Given the description of an element on the screen output the (x, y) to click on. 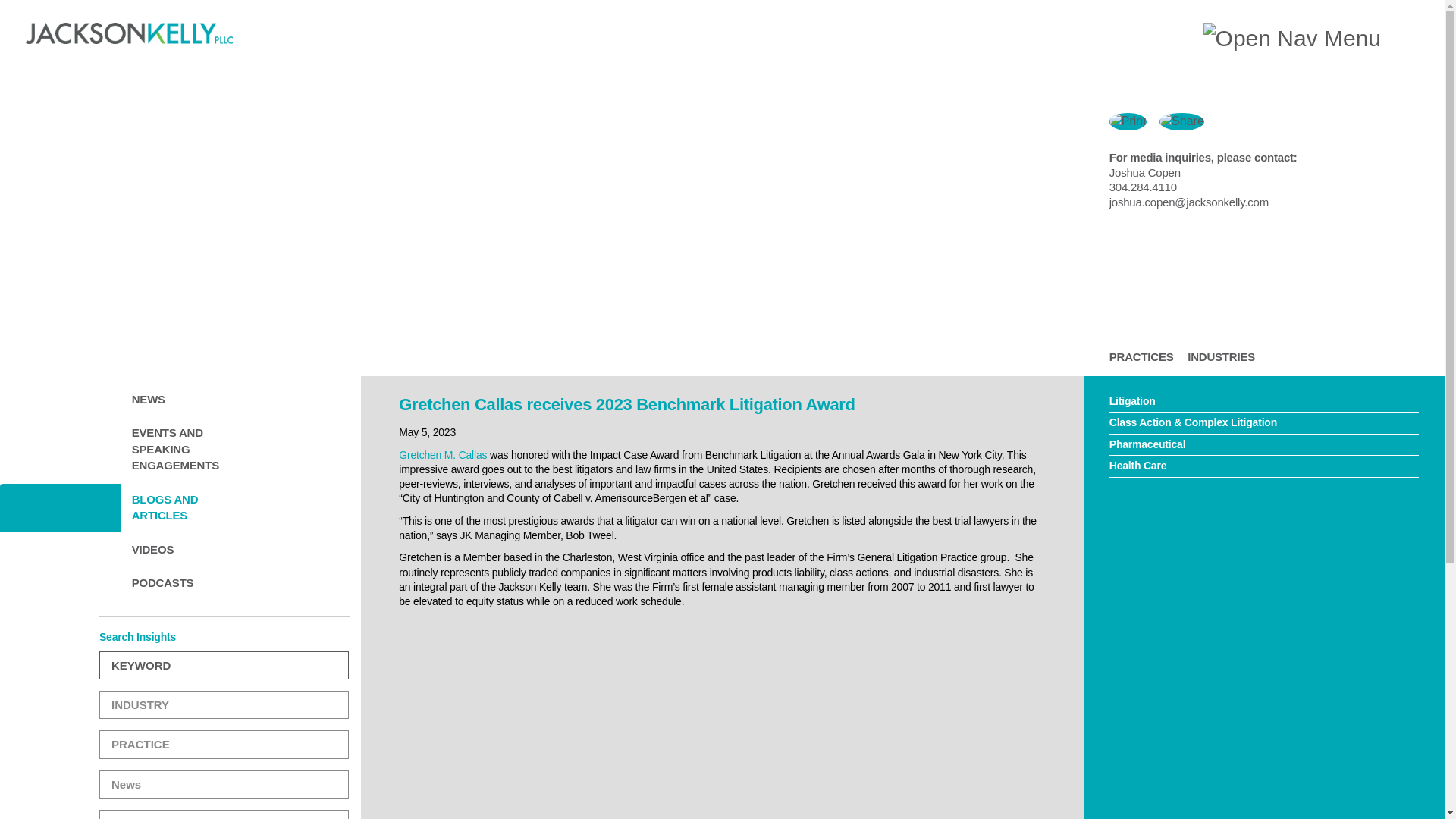
  EVENTS AND SPEAKING ENGAGEMENTS (180, 448)
  BLOGS AND ARTICLES (180, 507)
  PODCASTS (180, 582)
Share on Social Media (1186, 120)
Gretchen M. Callas (442, 454)
  VIDEOS (180, 549)
  NEWS (180, 399)
Download PDF for Printing (1132, 120)
